Given the description of an element on the screen output the (x, y) to click on. 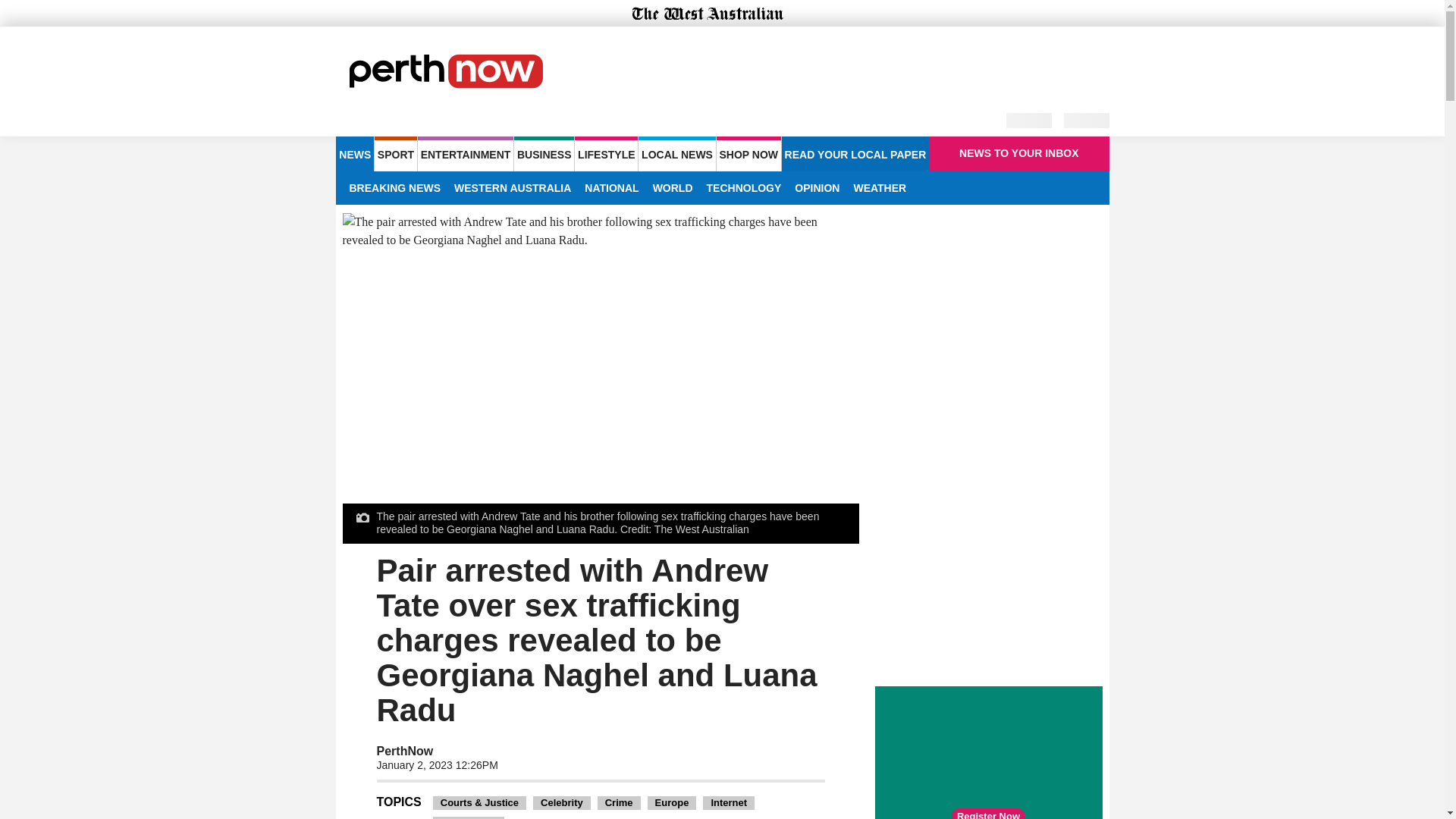
SPORT (395, 153)
ENTERTAINMENT (465, 153)
NEWS (354, 153)
BUSINESS (543, 153)
